Given the description of an element on the screen output the (x, y) to click on. 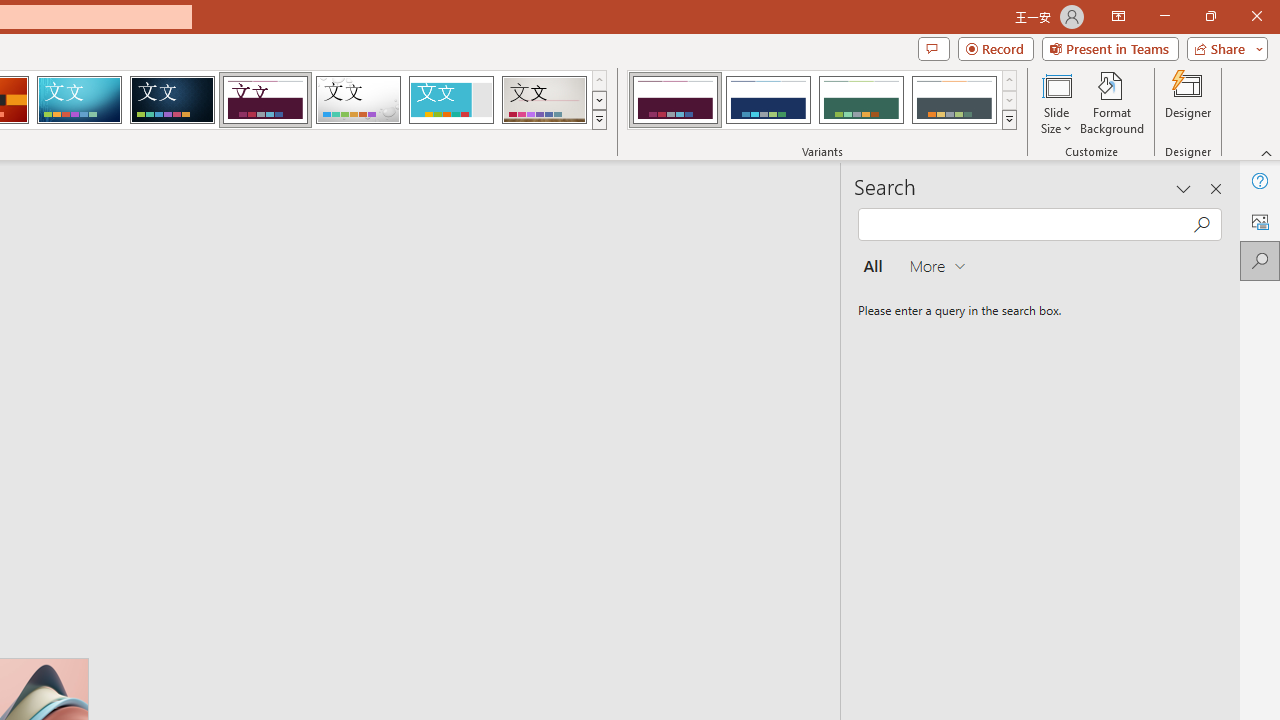
Dividend Variant 4 (953, 100)
Variants (1009, 120)
